Given the description of an element on the screen output the (x, y) to click on. 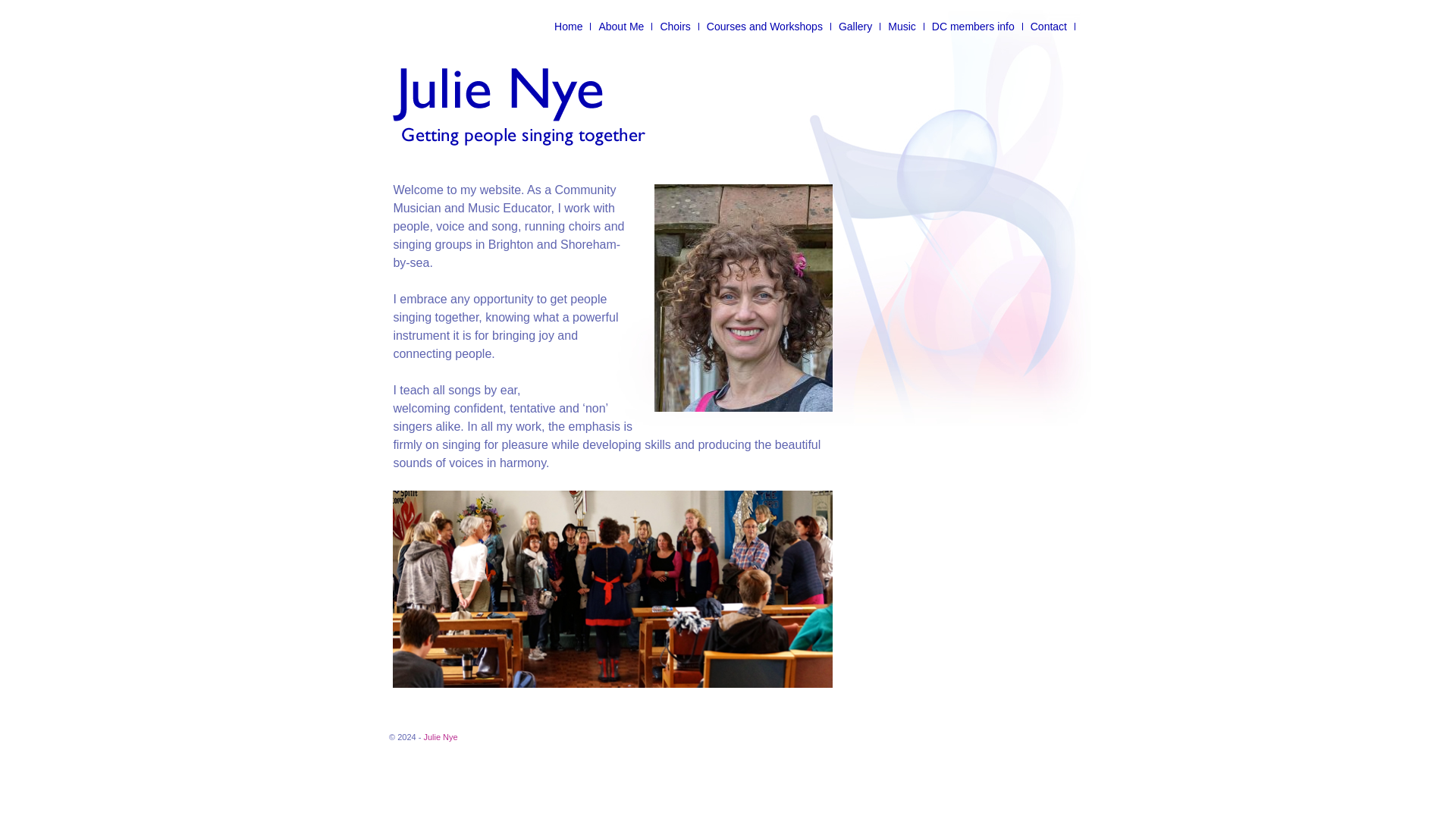
About Me (621, 26)
Gallery (855, 26)
DC members info (973, 26)
Skip to primary content (442, 26)
Julie Nye (440, 737)
Choirs (675, 26)
Music (902, 26)
Skip to secondary content (449, 26)
Julie Nye (440, 737)
Home (569, 26)
